Given the description of an element on the screen output the (x, y) to click on. 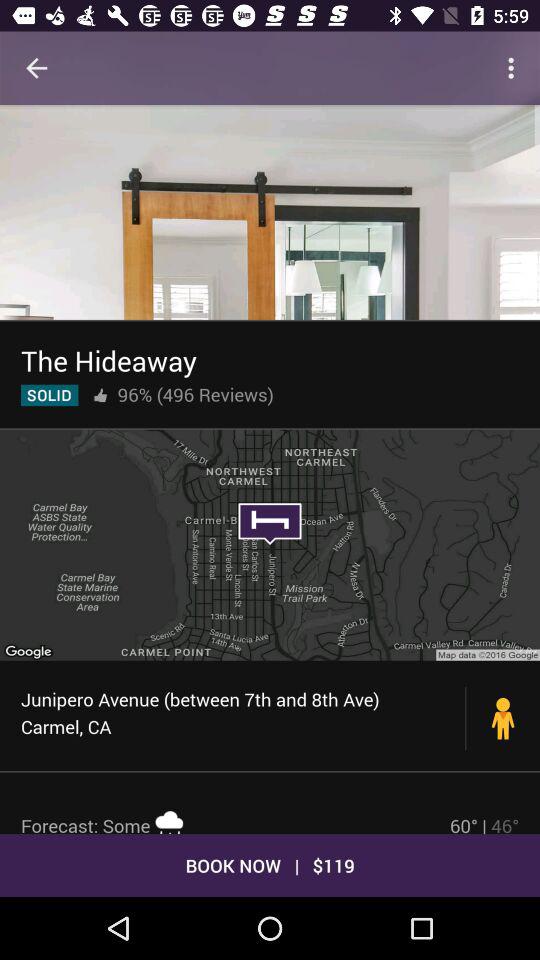
turn off icon above the book now   |   $119 icon (484, 823)
